Given the description of an element on the screen output the (x, y) to click on. 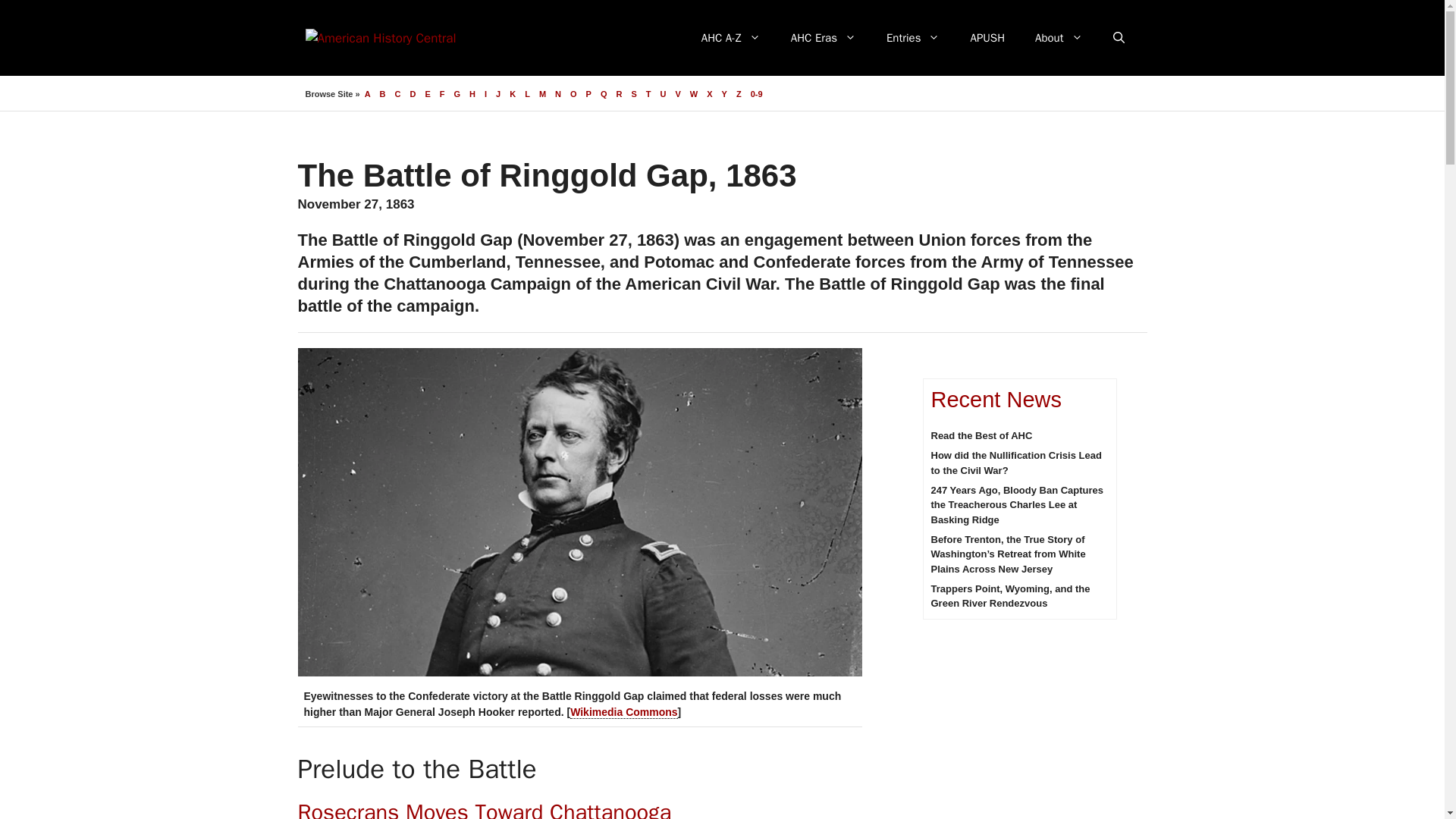
AHC A-Z (730, 37)
AHC Eras (823, 37)
